Given the description of an element on the screen output the (x, y) to click on. 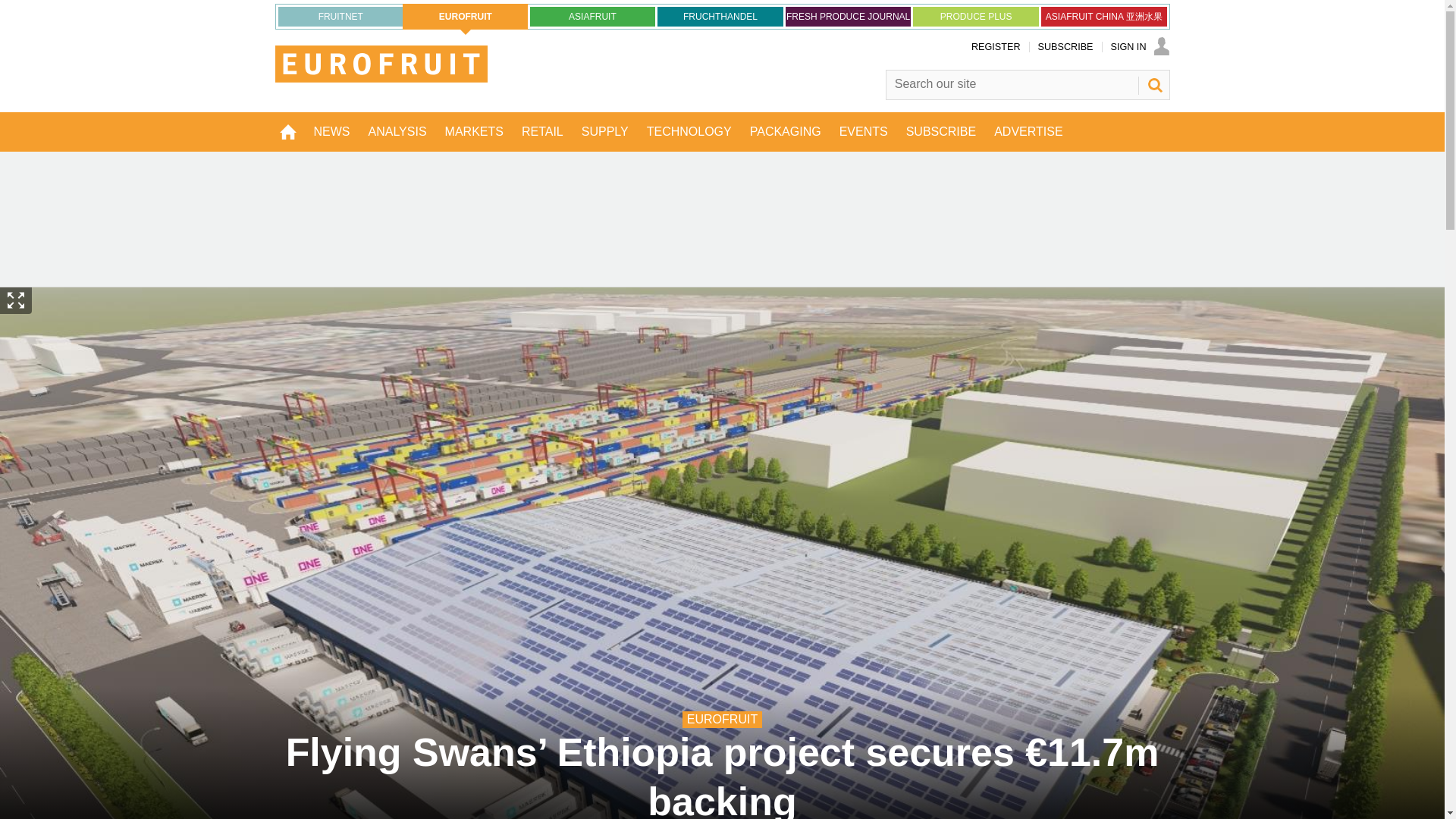
PRODUCE PLUS (975, 16)
NEWS (331, 131)
MARKETS (473, 131)
FRESH PRODUCE JOURNAL (848, 16)
FRUITNET (340, 16)
REGISTER (995, 46)
SIGN IN (1139, 46)
ANALYSIS (397, 131)
EUROFRUIT (465, 16)
SEARCH (1153, 84)
